Given the description of an element on the screen output the (x, y) to click on. 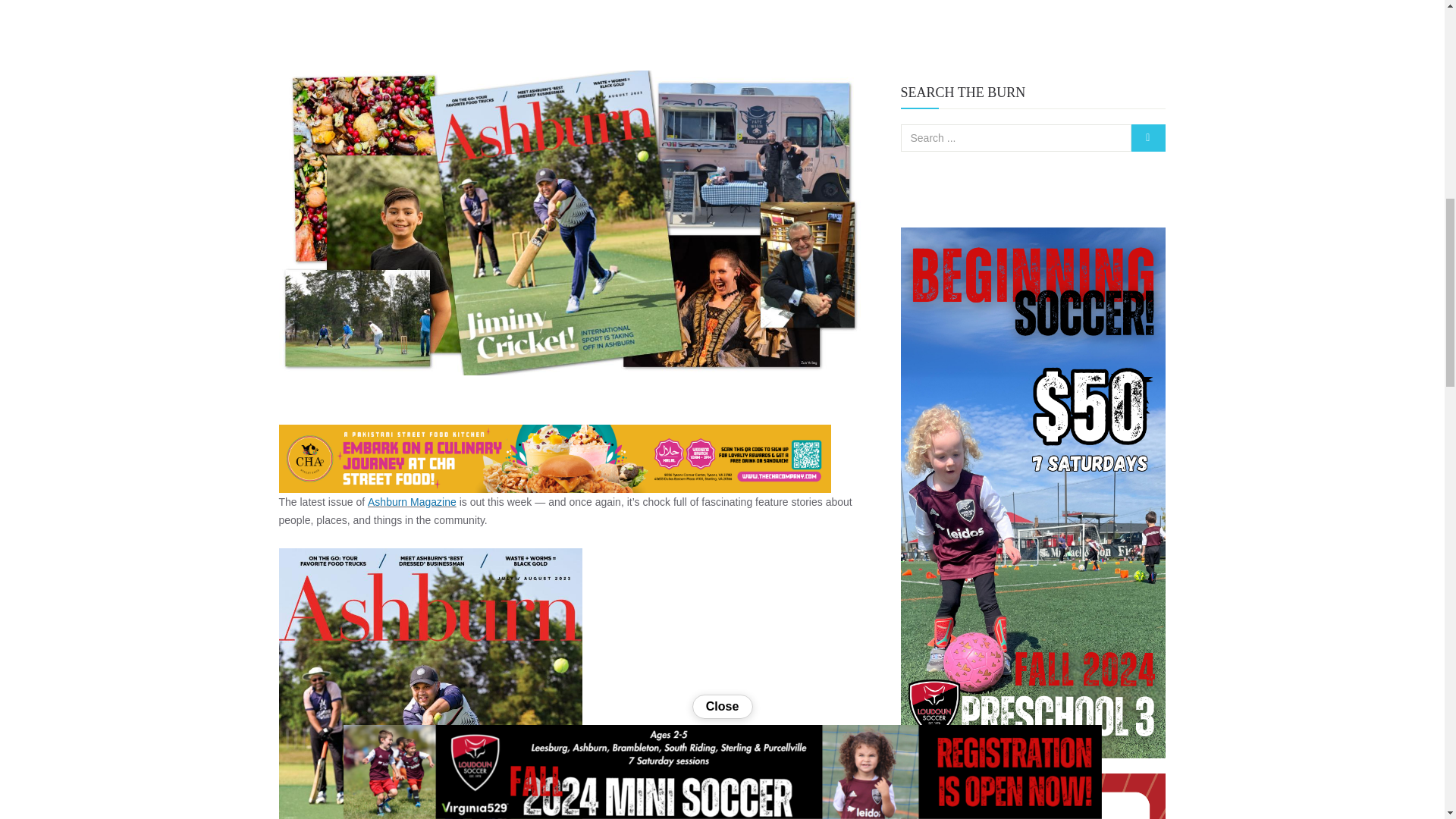
Ashburn Magazine (412, 501)
728 CHA Street Food Culinary Journey (555, 459)
300x600 Apple CU Imagine That (1033, 796)
